Given the description of an element on the screen output the (x, y) to click on. 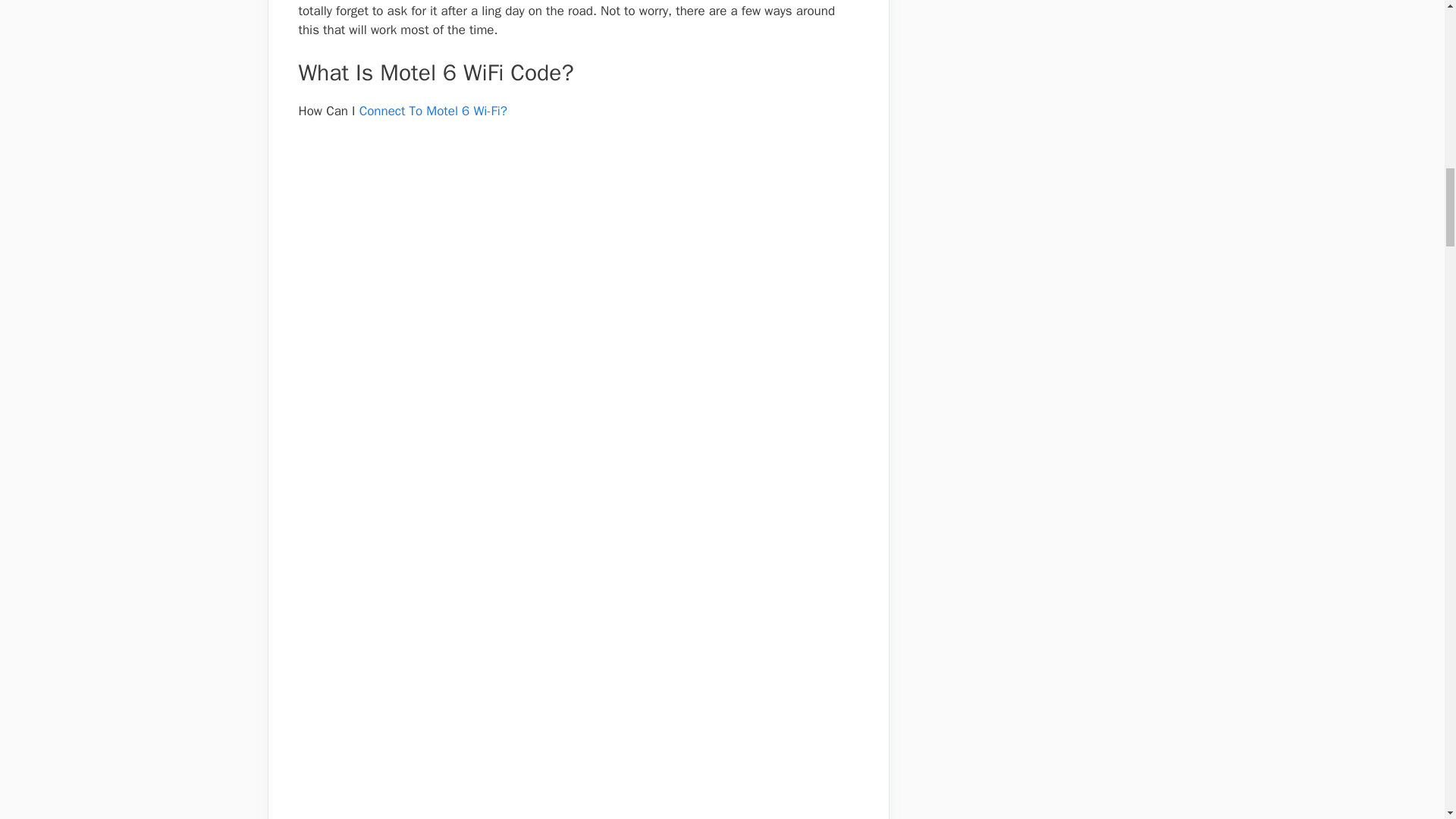
Connect To Motel 6 Wi-Fi? (432, 110)
